Given the description of an element on the screen output the (x, y) to click on. 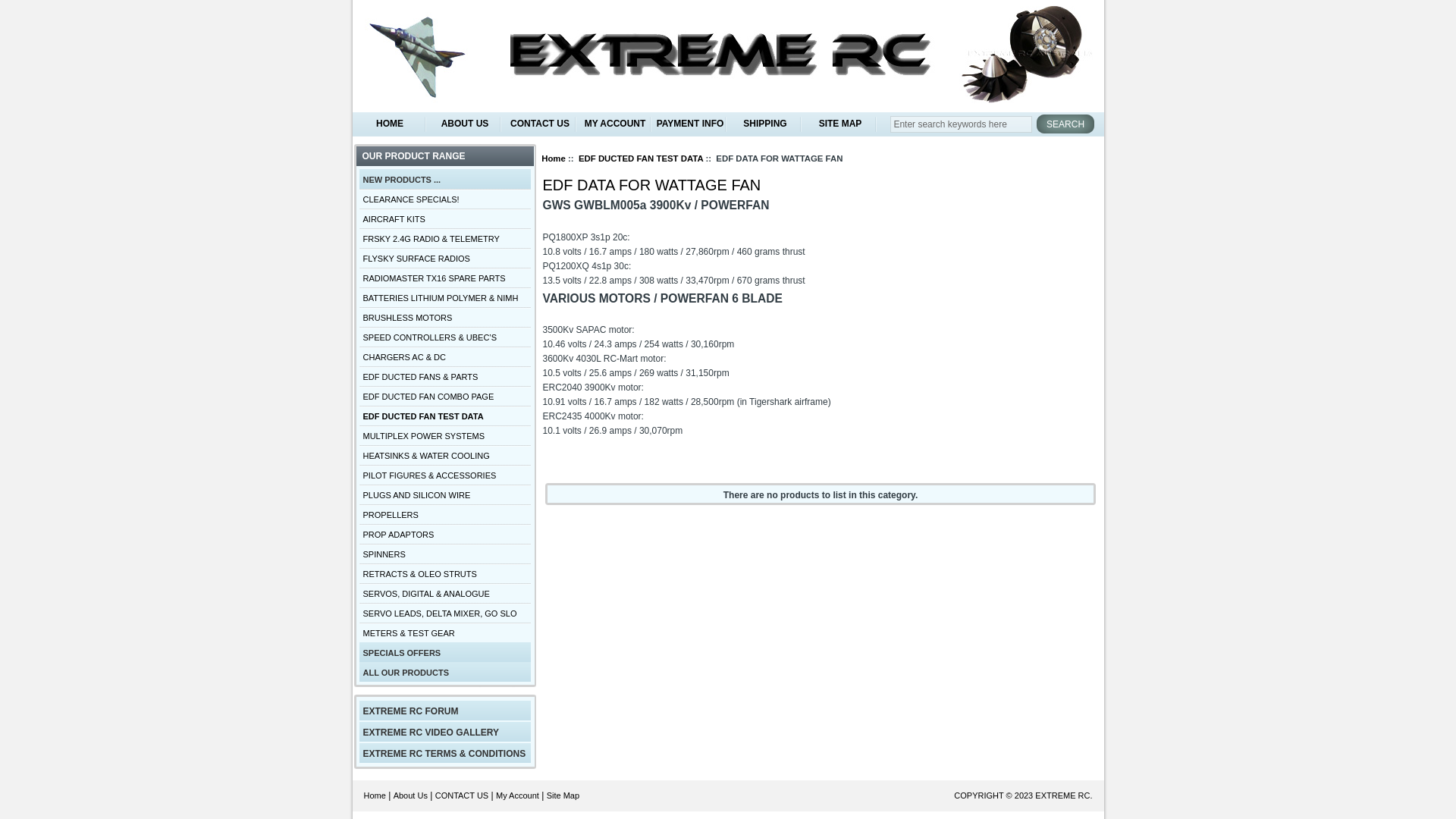
NEW PRODUCTS ... Element type: text (444, 178)
EXTREME RC Element type: text (1062, 795)
HEATSINKS & WATER COOLING Element type: text (444, 454)
RETRACTS & OLEO STRUTS Element type: text (444, 573)
FLYSKY SURFACE RADIOS Element type: text (444, 257)
EDF DUCTED FAN TEST DATA Element type: text (640, 158)
MY ACCOUNT Element type: text (615, 123)
PAYMENT INFO Element type: text (689, 123)
About Us Element type: text (410, 795)
PLUGS AND SILICON WIRE Element type: text (444, 494)
HOME Element type: text (389, 123)
PROPELLERS Element type: text (444, 514)
CHARGERS AC & DC Element type: text (444, 356)
AIRCRAFT KITS Element type: text (444, 218)
METERS & TEST GEAR Element type: text (444, 632)
Search Element type: text (1065, 123)
ALL OUR PRODUCTS Element type: text (444, 671)
SITE MAP Element type: text (839, 123)
EXTREME RC FORUM Element type: text (444, 710)
MULTIPLEX POWER SYSTEMS Element type: text (444, 435)
EXTREME RC TERMS & CONDITIONS Element type: text (444, 752)
EXTREME RC VIDEO GALLERY Element type: text (444, 731)
SPINNERS Element type: text (444, 553)
SHIPPING Element type: text (765, 123)
FRSKY 2.4G RADIO & TELEMETRY Element type: text (444, 237)
BATTERIES LITHIUM POLYMER & NIMH Element type: text (444, 297)
Home Element type: text (553, 158)
Home Element type: text (374, 795)
BRUSHLESS MOTORS Element type: text (444, 316)
PILOT FIGURES & ACCESSORIES Element type: text (444, 474)
SPECIALS OFFERS Element type: text (444, 652)
My Account Element type: text (517, 795)
SERVO LEADS, DELTA MIXER, GO SLO Element type: text (444, 612)
CONTACT US Element type: text (462, 795)
Site Map Element type: text (562, 795)
PROP ADAPTORS Element type: text (444, 533)
CONTACT US Element type: text (539, 123)
EDF DUCTED FANS & PARTS Element type: text (444, 375)
RADIOMASTER TX16 SPARE PARTS Element type: text (444, 277)
CLEARANCE SPECIALS! Element type: text (444, 198)
ABOUT US Element type: text (465, 123)
EDF DUCTED FAN TEST DATA Element type: text (444, 415)
SERVOS, DIGITAL & ANALOGUE Element type: text (444, 592)
EDF DUCTED FAN COMBO PAGE Element type: text (444, 395)
